Given the description of an element on the screen output the (x, y) to click on. 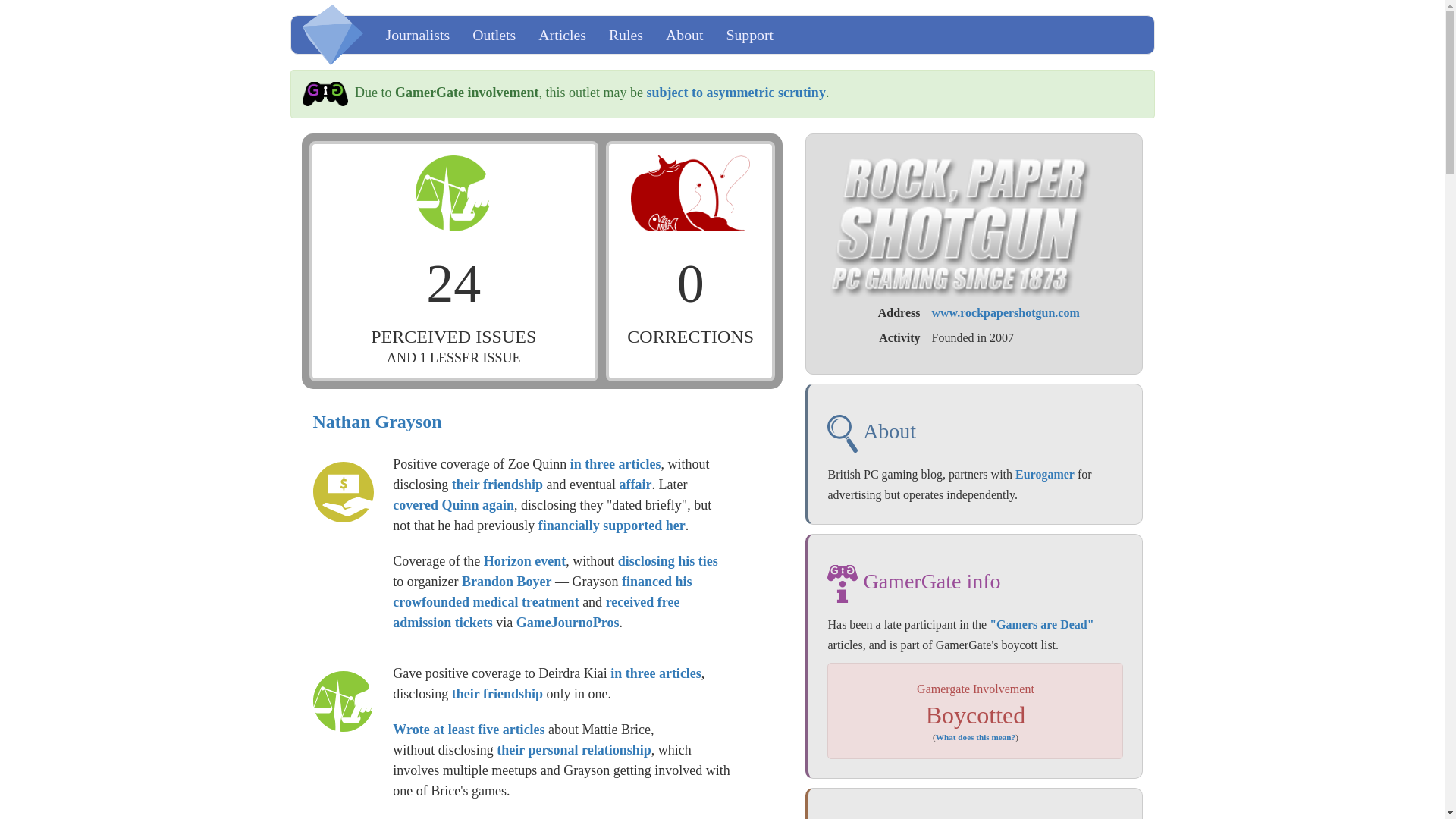
least (461, 729)
disclosing his ties (667, 560)
GameJournoPros (568, 622)
Cronyism (343, 701)
articles (523, 729)
affair (634, 484)
Corruption (343, 491)
at (438, 729)
subject to asymmetric scrutiny (735, 92)
their friendship (497, 693)
their friendship (497, 484)
covered Quinn again (453, 504)
articles (639, 463)
Brandon Boyer (506, 581)
financed his crowfounded medical treatment (542, 591)
